Given the description of an element on the screen output the (x, y) to click on. 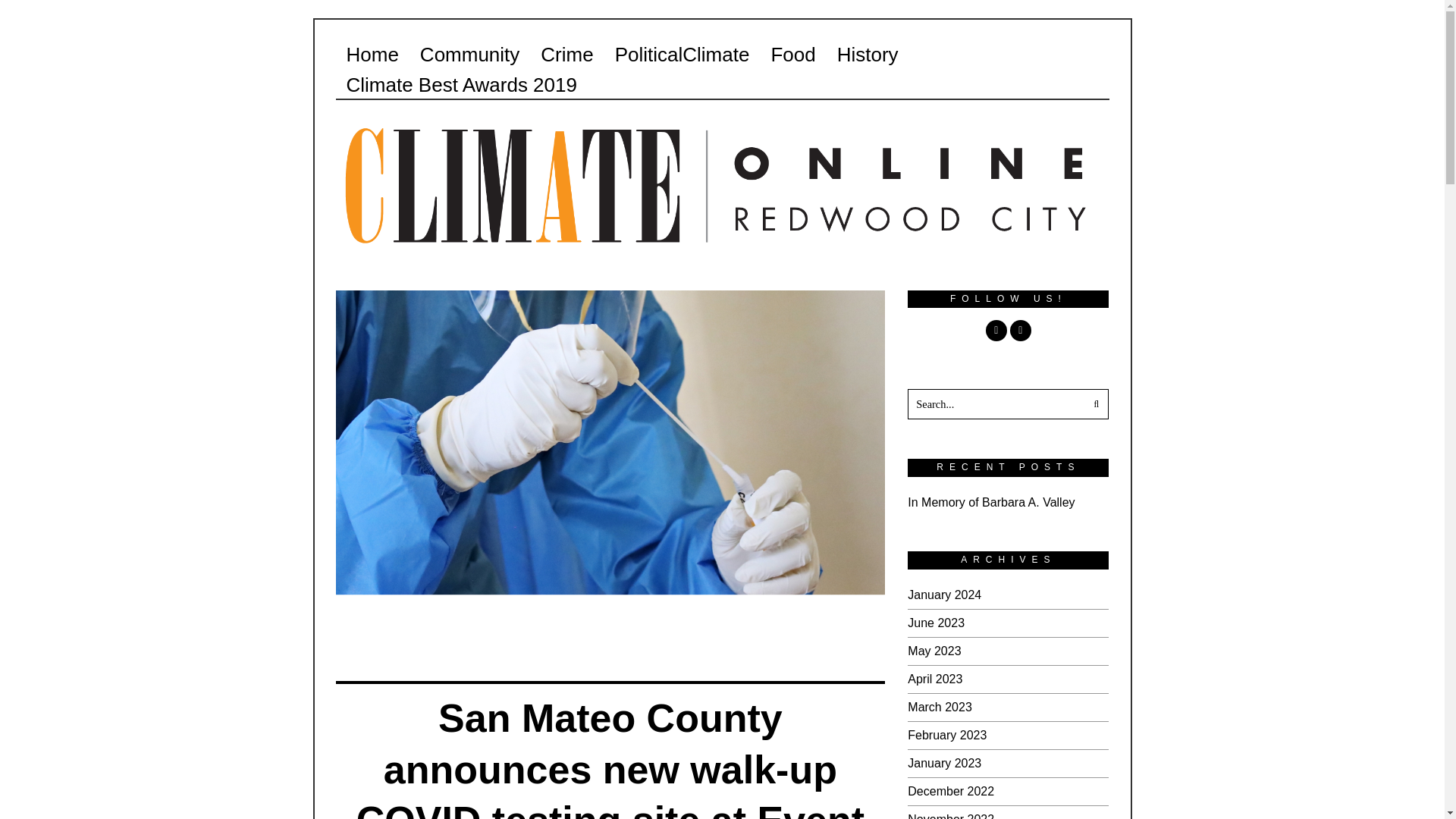
November 2022 (950, 816)
Climate Best Awards 2019 (460, 84)
History (867, 54)
June 2023 (935, 622)
PoliticalClimate (682, 54)
Go (1093, 404)
Home (371, 54)
January 2023 (944, 762)
Community (469, 54)
February 2023 (947, 735)
In Memory of Barbara A. Valley (990, 502)
May 2023 (933, 650)
January 2024 (944, 594)
April 2023 (934, 678)
Twitter (1020, 330)
